Given the description of an element on the screen output the (x, y) to click on. 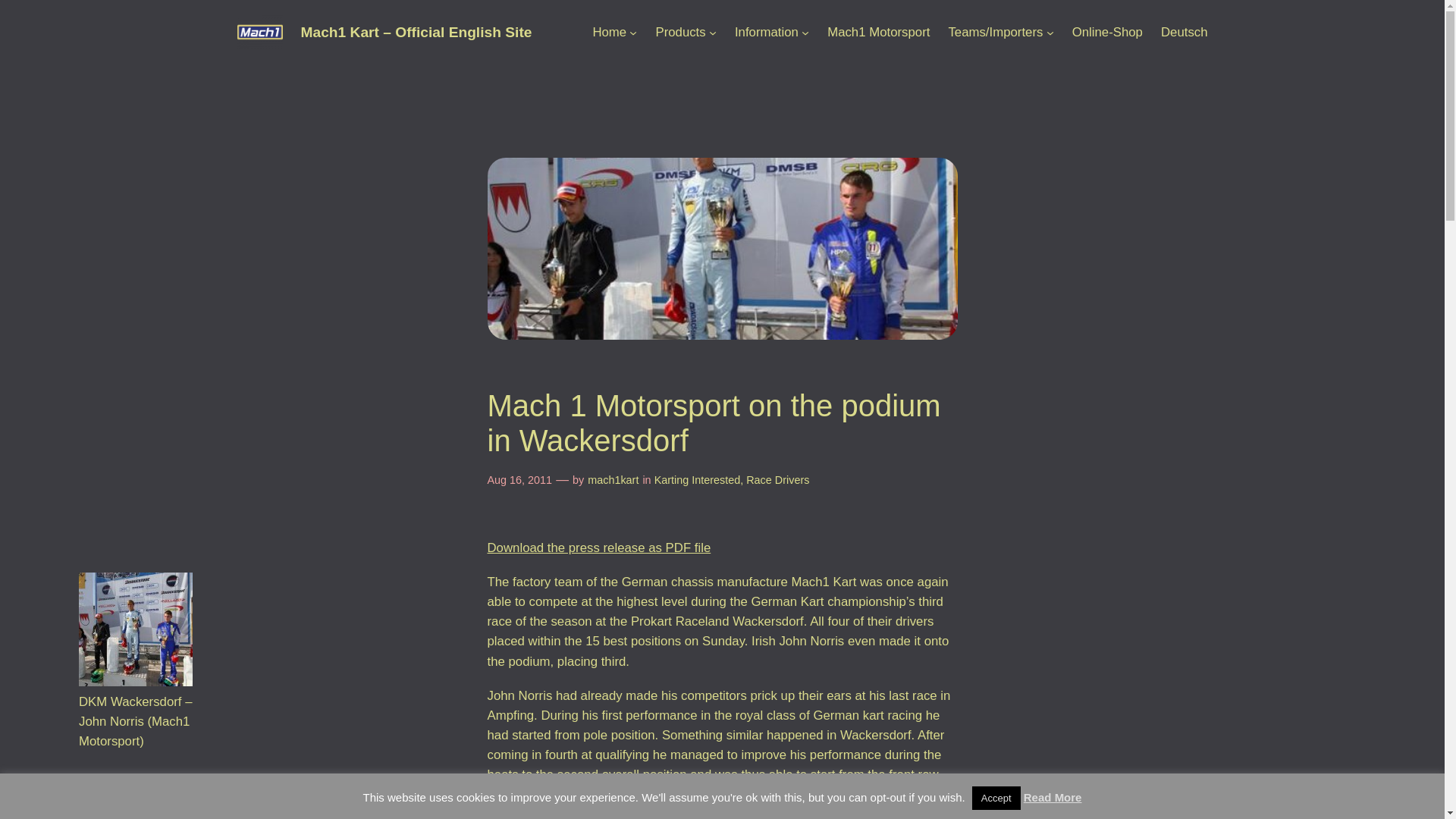
Aug 16, 2011 (518, 480)
Products (679, 32)
Online-Shop (1106, 32)
Race Drivers (777, 480)
Mach1 Motorsport (878, 32)
to Homepage (609, 32)
Information (766, 32)
Home (609, 32)
Download the press release as PDF file (598, 547)
Karting Interested (697, 480)
mach1kart (613, 480)
Deutsch (1184, 32)
